Given the description of an element on the screen output the (x, y) to click on. 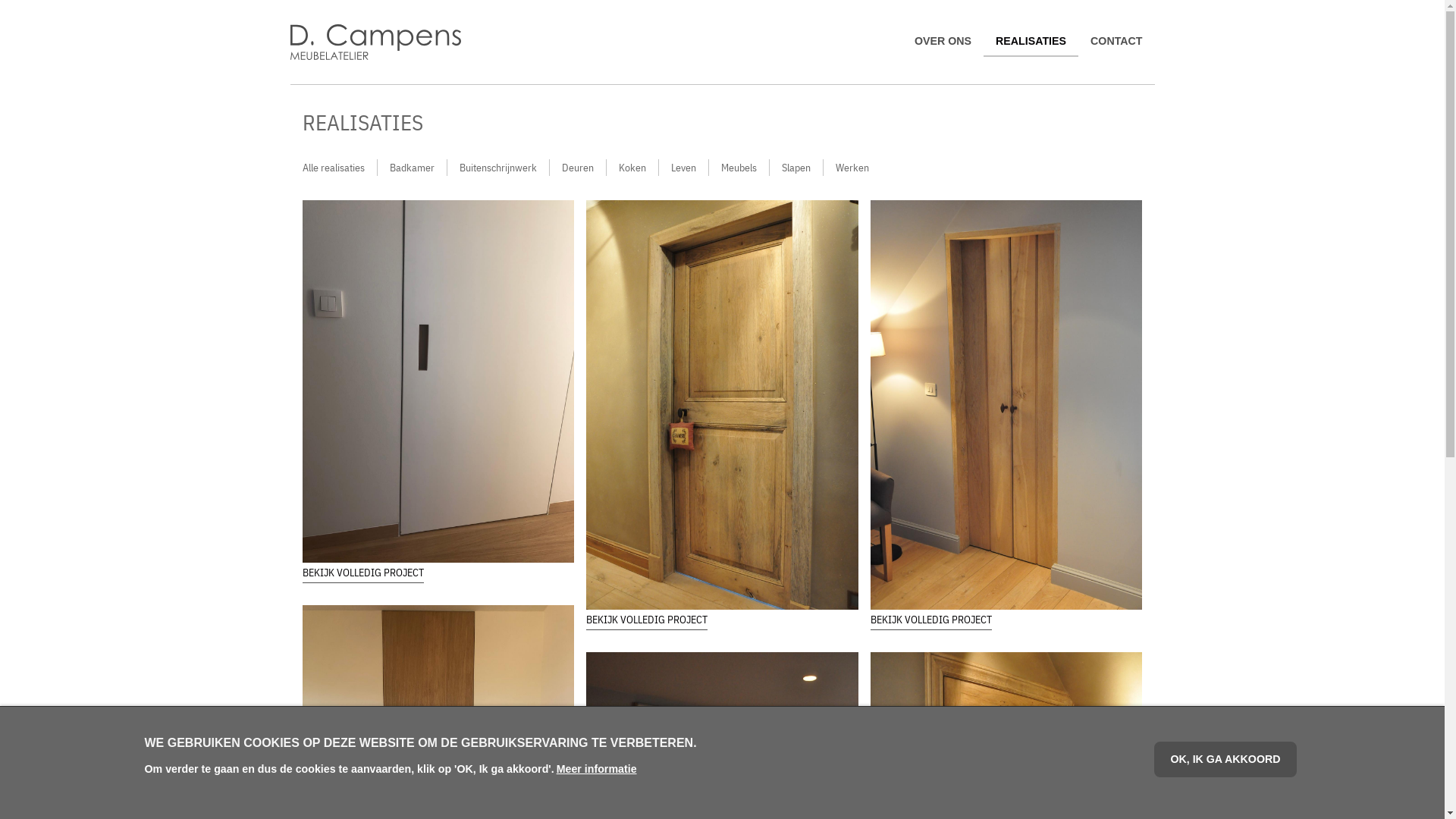
CONTACT Element type: text (1116, 41)
Slapen Element type: text (795, 167)
Overslaan en naar de inhoud gaan Element type: text (0, 0)
OK, IK GA AKKOORD Element type: text (1224, 760)
OVER ONS Element type: text (942, 41)
Meer informatie Element type: text (596, 770)
Deuren Element type: text (577, 167)
Koken Element type: text (632, 167)
Home Element type: hover (403, 41)
Badkamer Element type: text (411, 167)
REALISATIES Element type: text (1030, 41)
Buitenschrijnwerk Element type: text (498, 167)
Werken Element type: text (852, 167)
BEKIJK VOLLEDIG PROJECT Element type: text (646, 619)
Meubels Element type: text (738, 167)
BEKIJK VOLLEDIG PROJECT Element type: text (930, 619)
BEKIJK VOLLEDIG PROJECT Element type: text (362, 572)
Alle realisaties Element type: text (338, 167)
Leven Element type: text (682, 167)
